Given the description of an element on the screen output the (x, y) to click on. 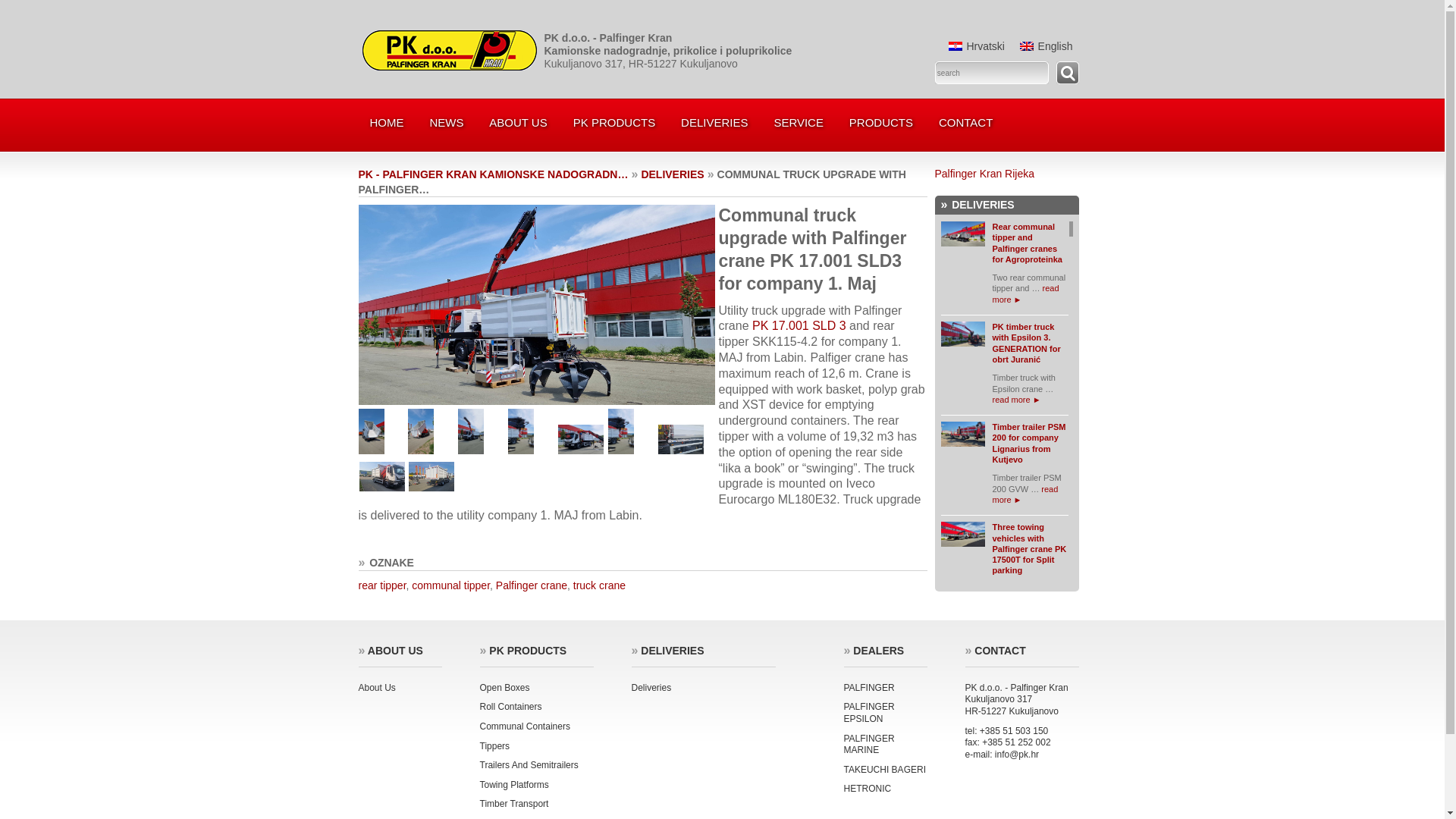
Palfinger Kran (449, 66)
CONTACT (965, 122)
PK PRODUCTS (614, 122)
English (1026, 45)
PK 17.001 SLD 3 (798, 325)
English (1045, 45)
DELIVERIES (714, 122)
Go to PK - Palfinger Kran kamionske nadogradnje. (492, 174)
Hrvatski (975, 45)
rear tipper (382, 585)
